Given the description of an element on the screen output the (x, y) to click on. 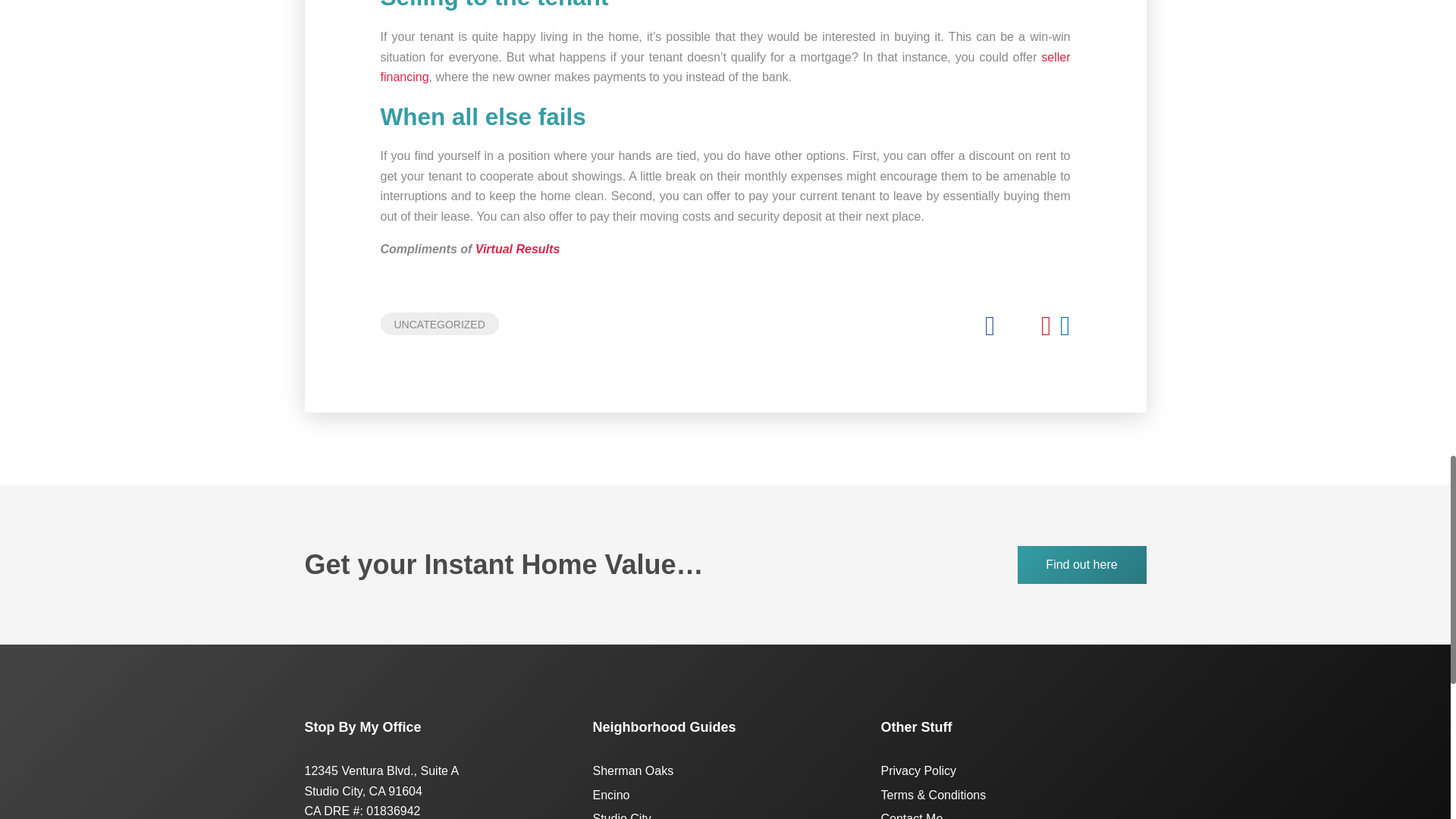
Privacy Policy (918, 770)
Virtual Results (517, 248)
Studio City (621, 815)
Contact Me (911, 815)
seller financing (725, 67)
Find out here (1082, 565)
Encino (611, 794)
Sherman Oaks (633, 770)
UNCATEGORIZED (439, 323)
